Given the description of an element on the screen output the (x, y) to click on. 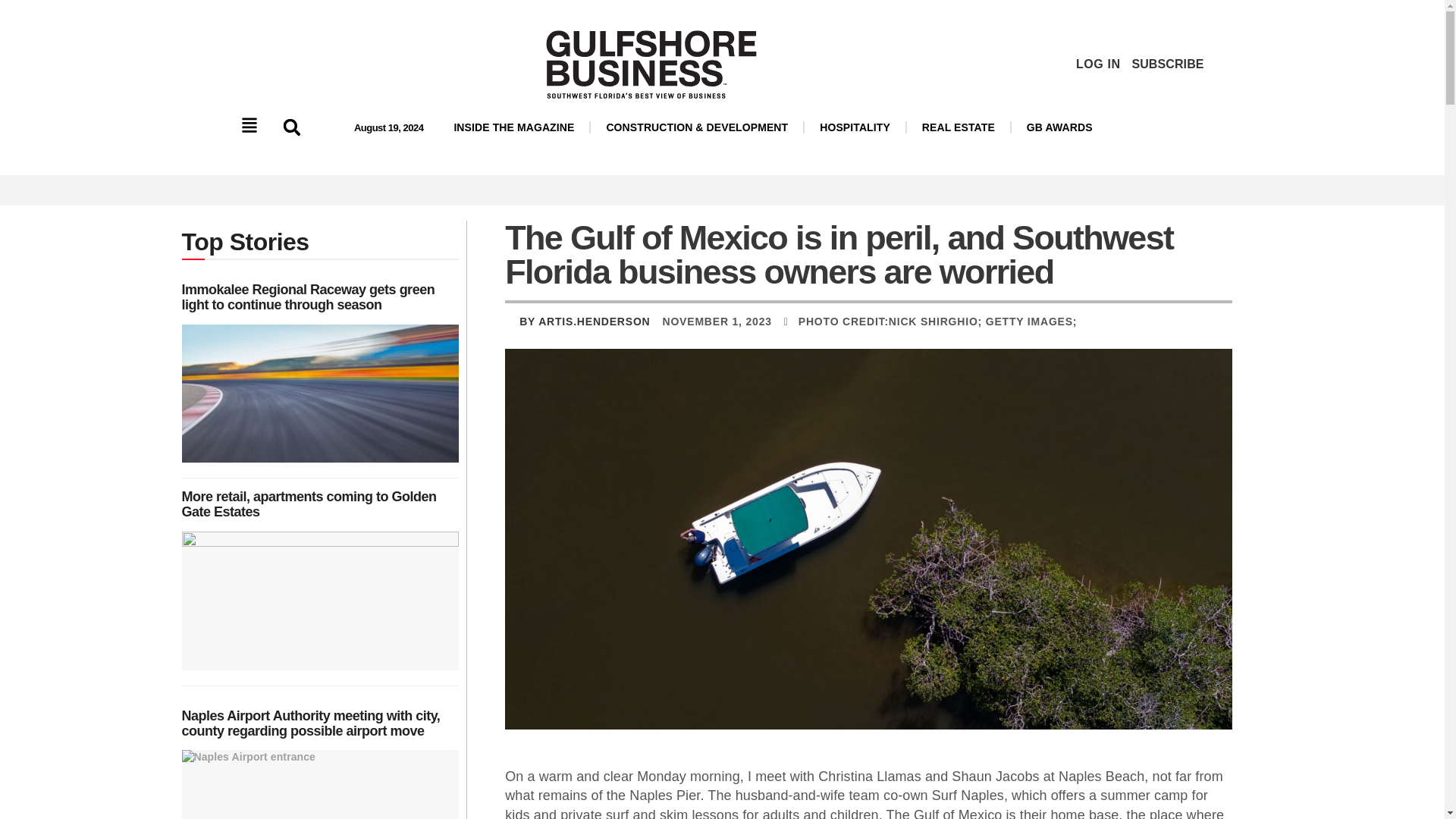
SUBSCRIBE (1167, 63)
REAL ESTATE (958, 126)
INSIDE THE MAGAZINE (513, 126)
HOSPITALITY (855, 126)
GB AWARDS (1059, 126)
LOG IN (1098, 63)
